Given the description of an element on the screen output the (x, y) to click on. 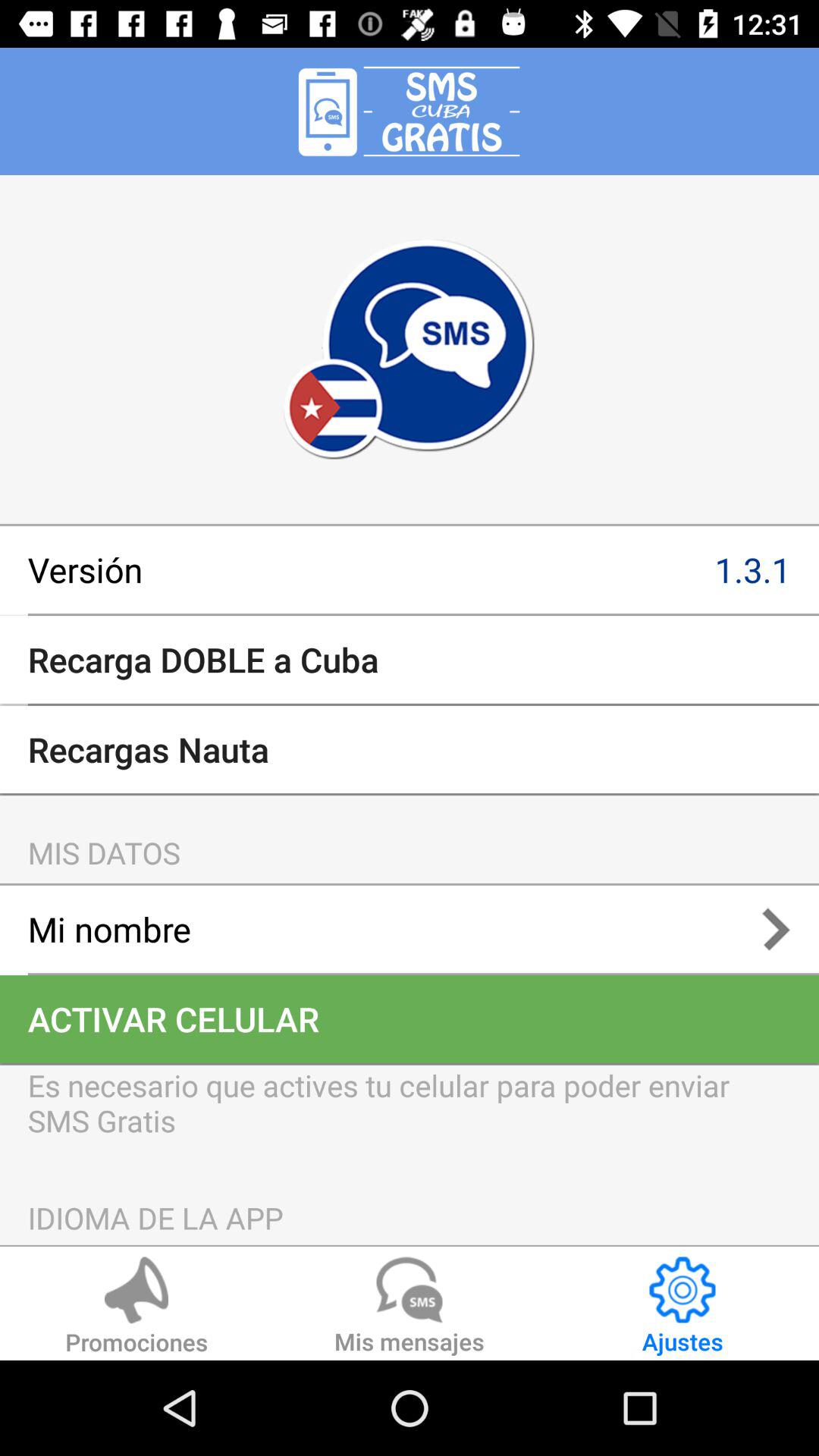
select recargas nauta item (409, 749)
